Given the description of an element on the screen output the (x, y) to click on. 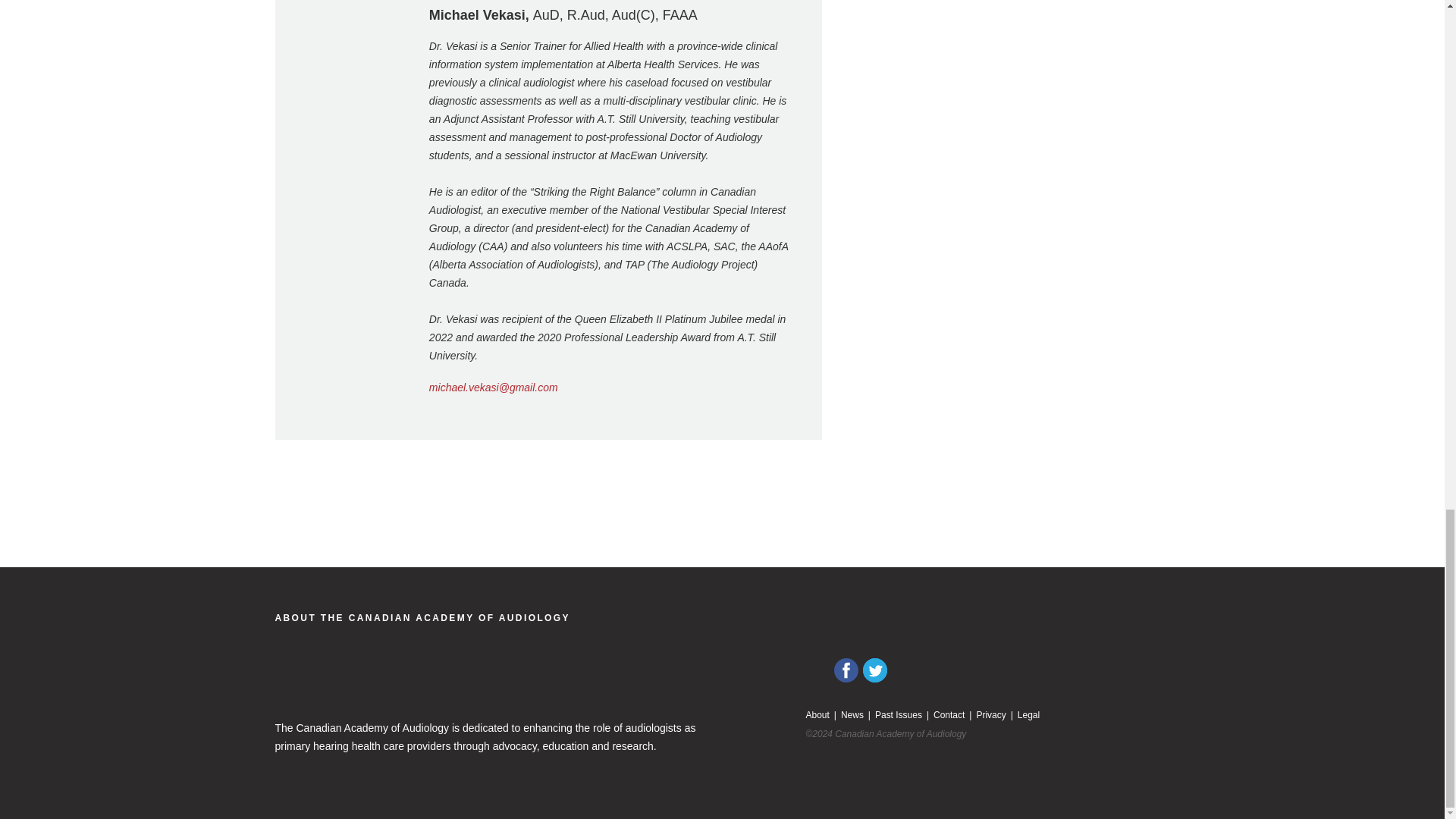
Canadian Audiologists on LinkedIn (817, 670)
Like Canadian Audiologists on Facebook (846, 670)
Follow Canadian Audiologists on Twitter (874, 670)
The Canadian Academy of Audiology (422, 617)
The Canadian Academy of Audiology (379, 682)
